Given the description of an element on the screen output the (x, y) to click on. 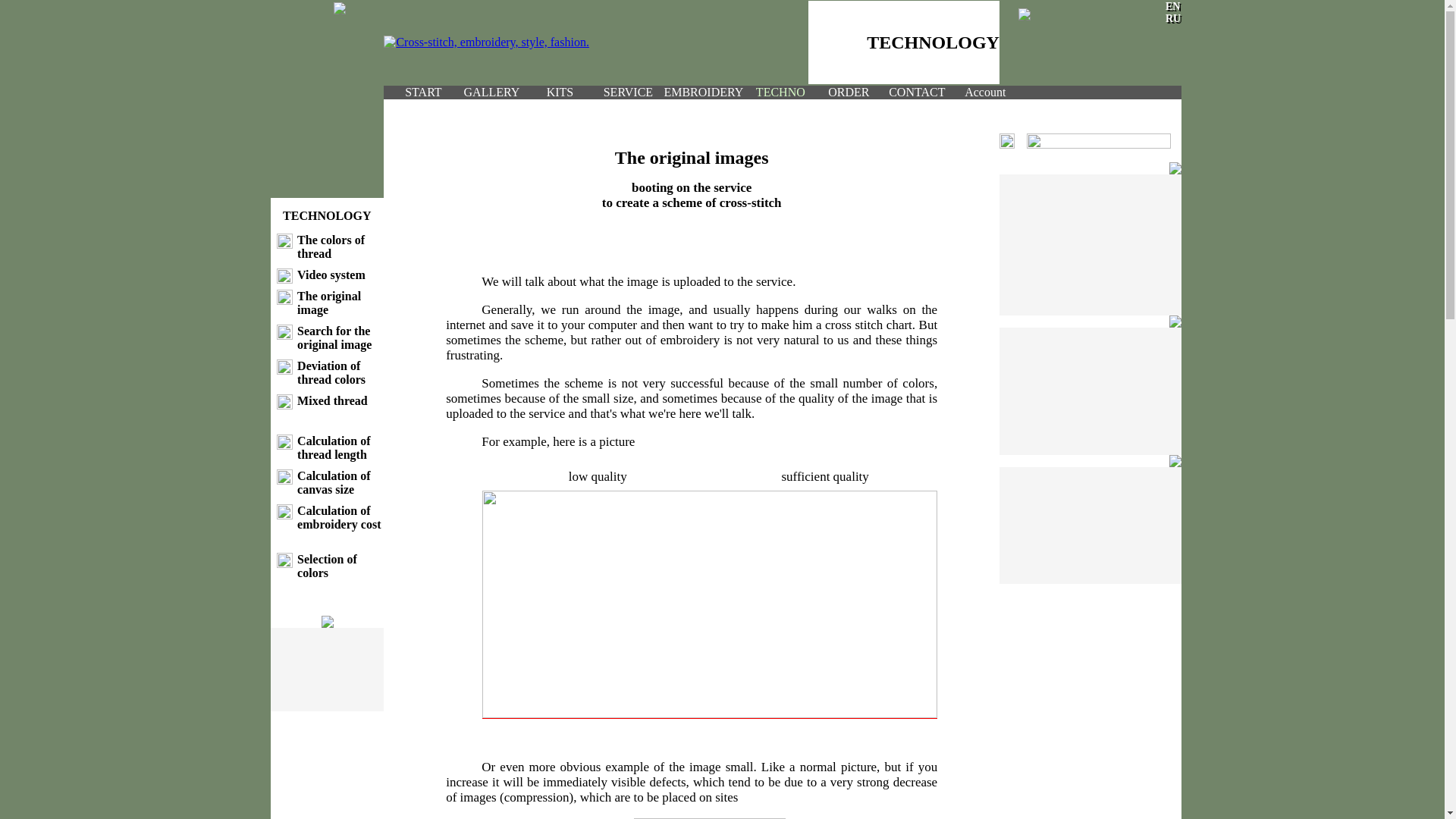
  GALLERY  (489, 92)
The colors of thread (331, 246)
Mixed thread (332, 400)
The original image (329, 302)
  ORDER   (847, 92)
Calculation of thread length (333, 447)
   START   (421, 92)
EN (1172, 6)
Video system (331, 274)
  TECHNO   (779, 92)
Deviation of thread colors (331, 372)
Search for the original image (334, 337)
  KITS  (558, 92)
 CONTACT  (916, 92)
RU (1173, 18)
